Given the description of an element on the screen output the (x, y) to click on. 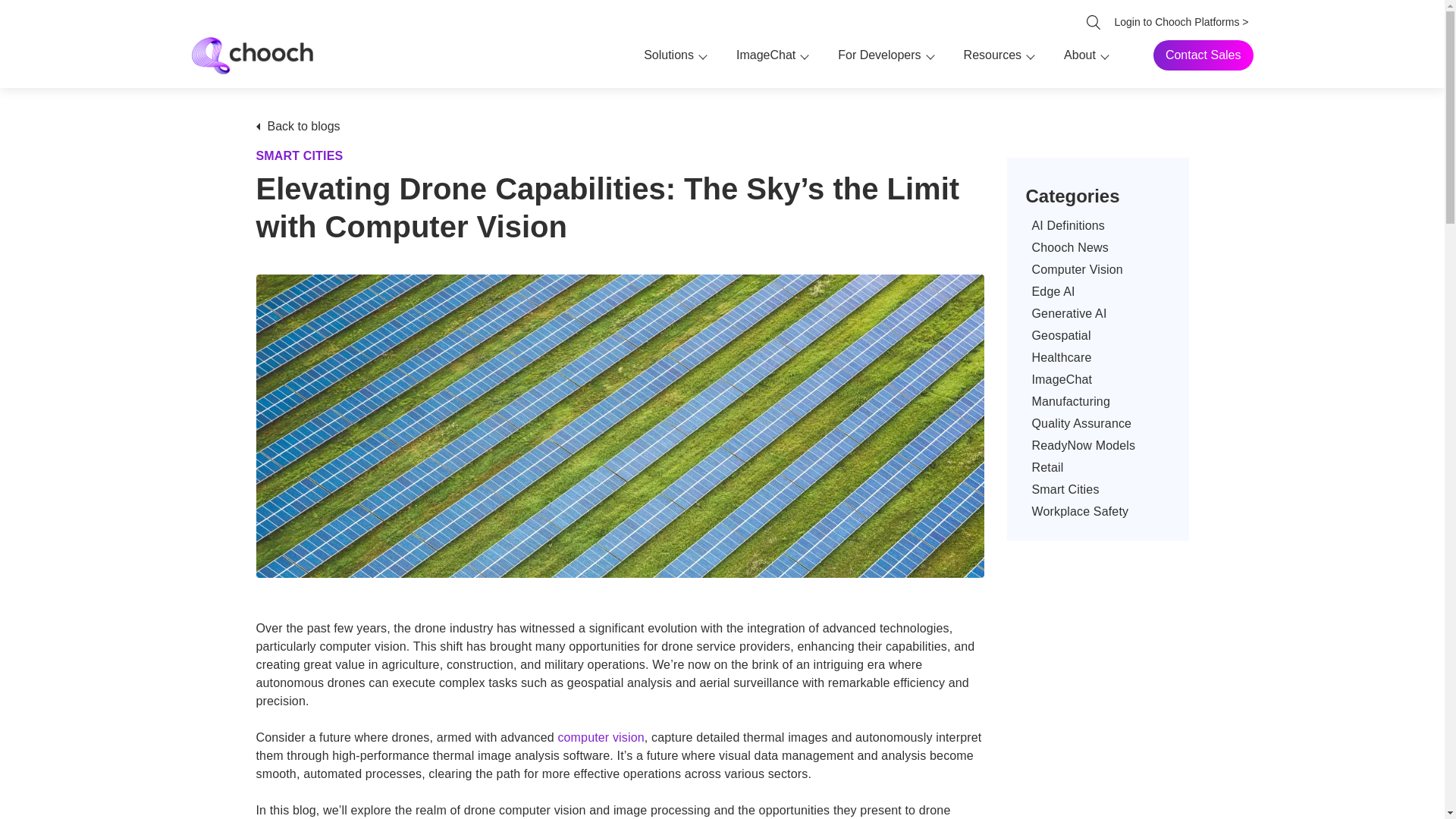
For Developers (879, 54)
Solutions (668, 54)
Resources (992, 54)
ImageChat (765, 54)
